Given the description of an element on the screen output the (x, y) to click on. 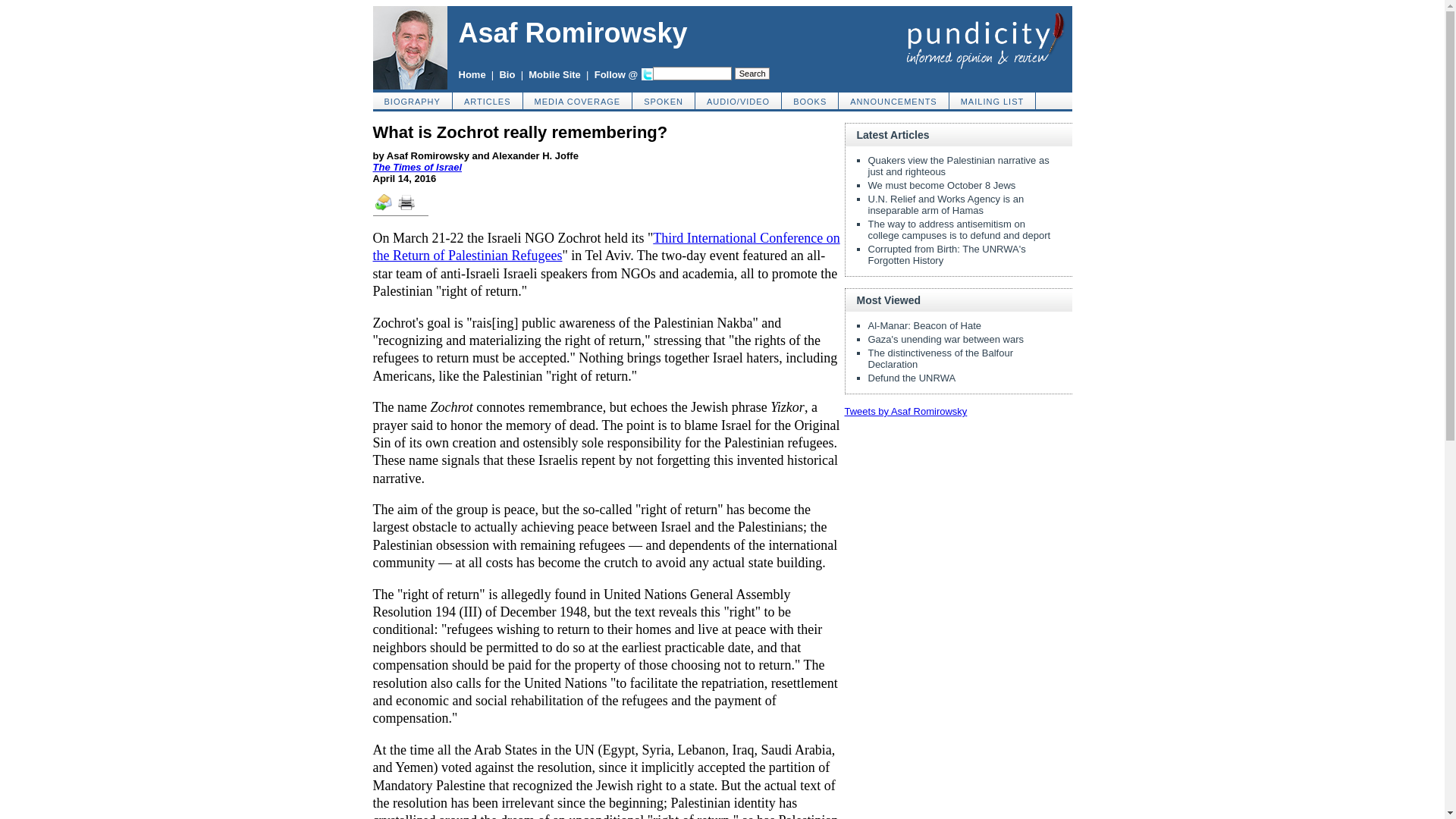
Search (752, 73)
MAILING LIST (992, 100)
Gaza's unending war between wars (945, 338)
Defund the UNRWA (911, 378)
BOOKS (809, 100)
MEDIA COVERAGE (577, 100)
Print (411, 207)
We must become October 8 Jews (940, 184)
Send (383, 208)
ARTICLES (487, 100)
ANNOUNCEMENTS (893, 100)
U.N. Relief and Works Agency is an inseparable arm of Hamas (945, 204)
Quakers view the Palestinian narrative as just and righteous (957, 165)
